Given the description of an element on the screen output the (x, y) to click on. 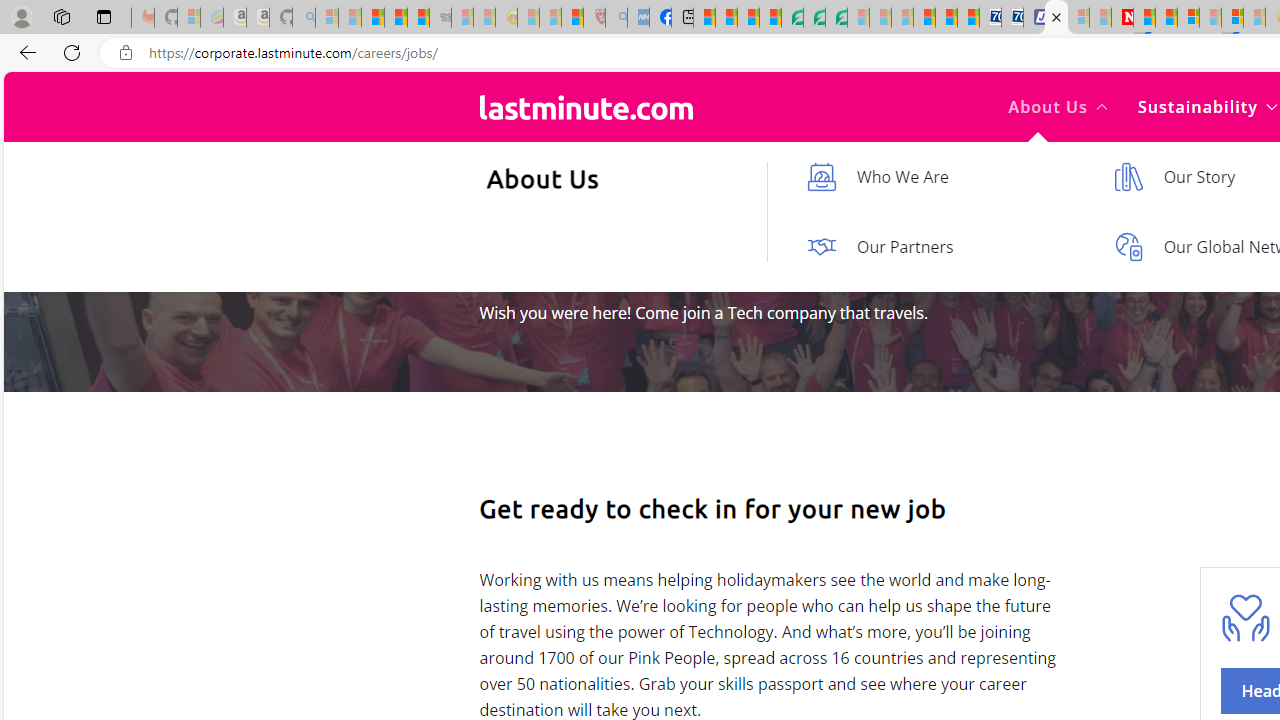
Sustainability (1206, 106)
Back to home (585, 106)
Robert H. Shmerling, MD - Harvard Health - Sleeping (594, 17)
Terms of Use Agreement (814, 17)
MSNBC - MSN (704, 17)
Latest Politics News & Archive | Newsweek.com (1122, 17)
About Us (1058, 106)
list of asthma inhalers uk - Search - Sleeping (616, 17)
